Given the description of an element on the screen output the (x, y) to click on. 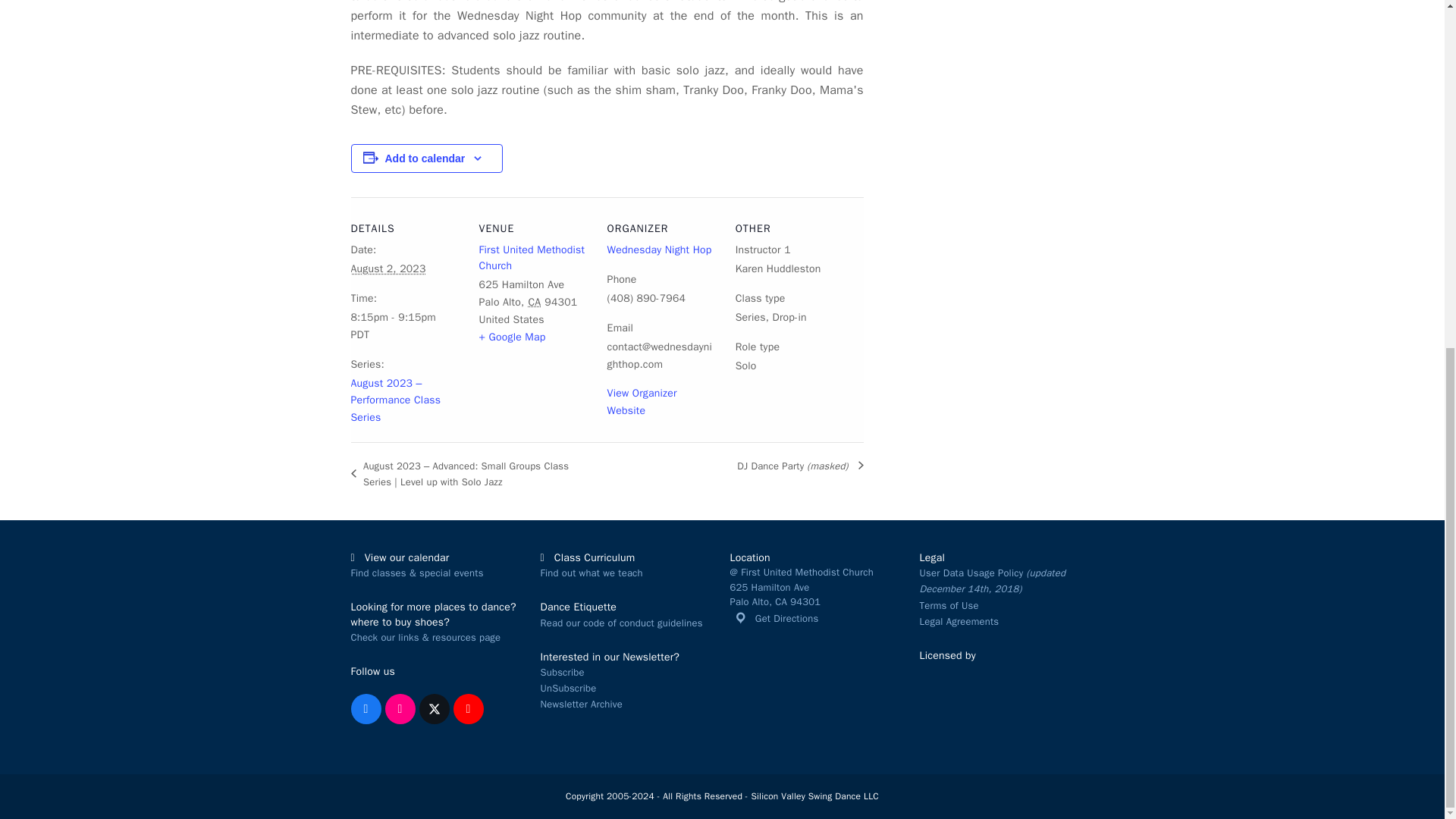
2023-08-02 (405, 326)
Click to view a Google Map (512, 336)
2023-08-02 (387, 268)
Wednesday Night Hop (659, 249)
